Given the description of an element on the screen output the (x, y) to click on. 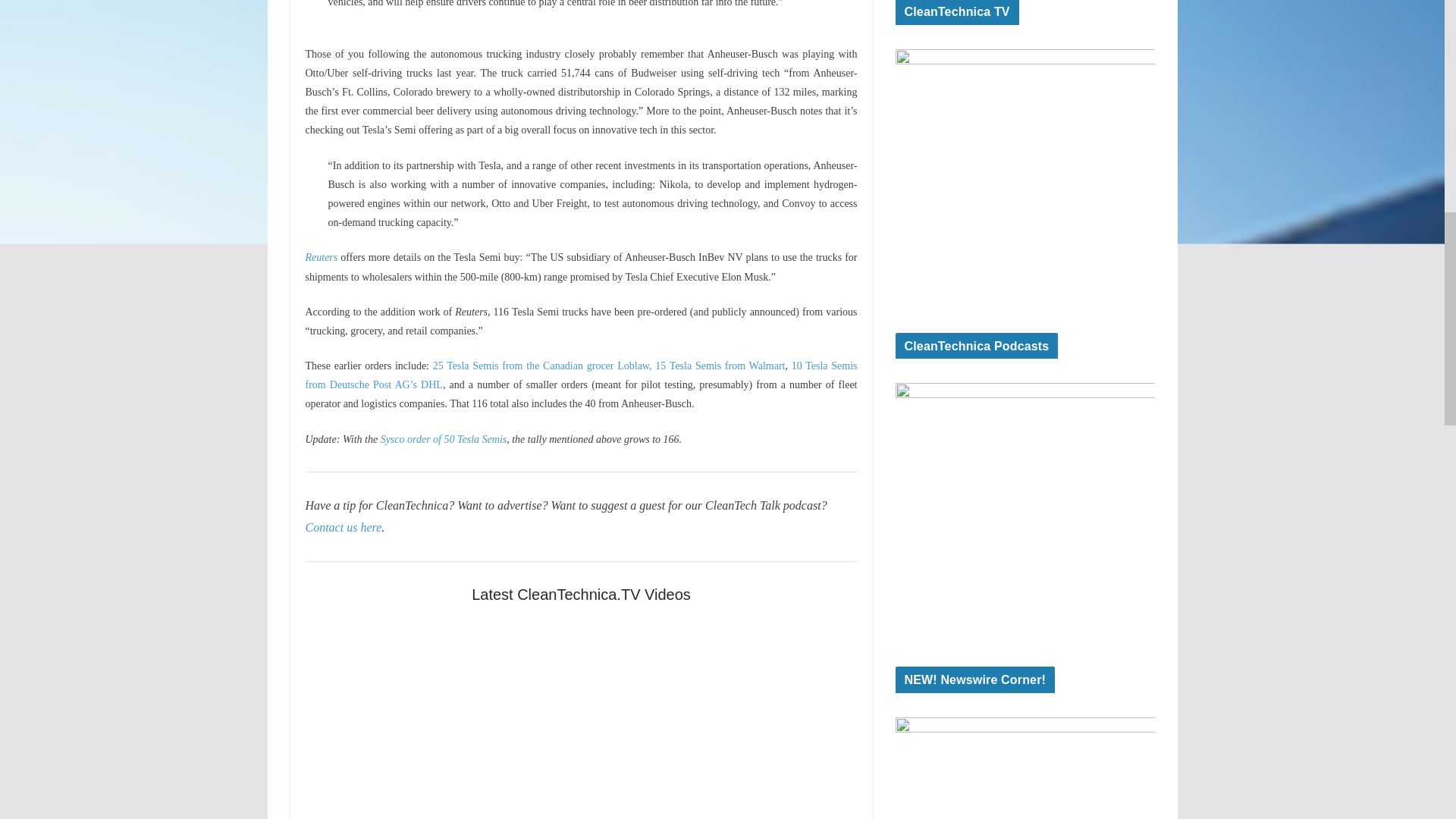
YouTube video player (580, 719)
